Given the description of an element on the screen output the (x, y) to click on. 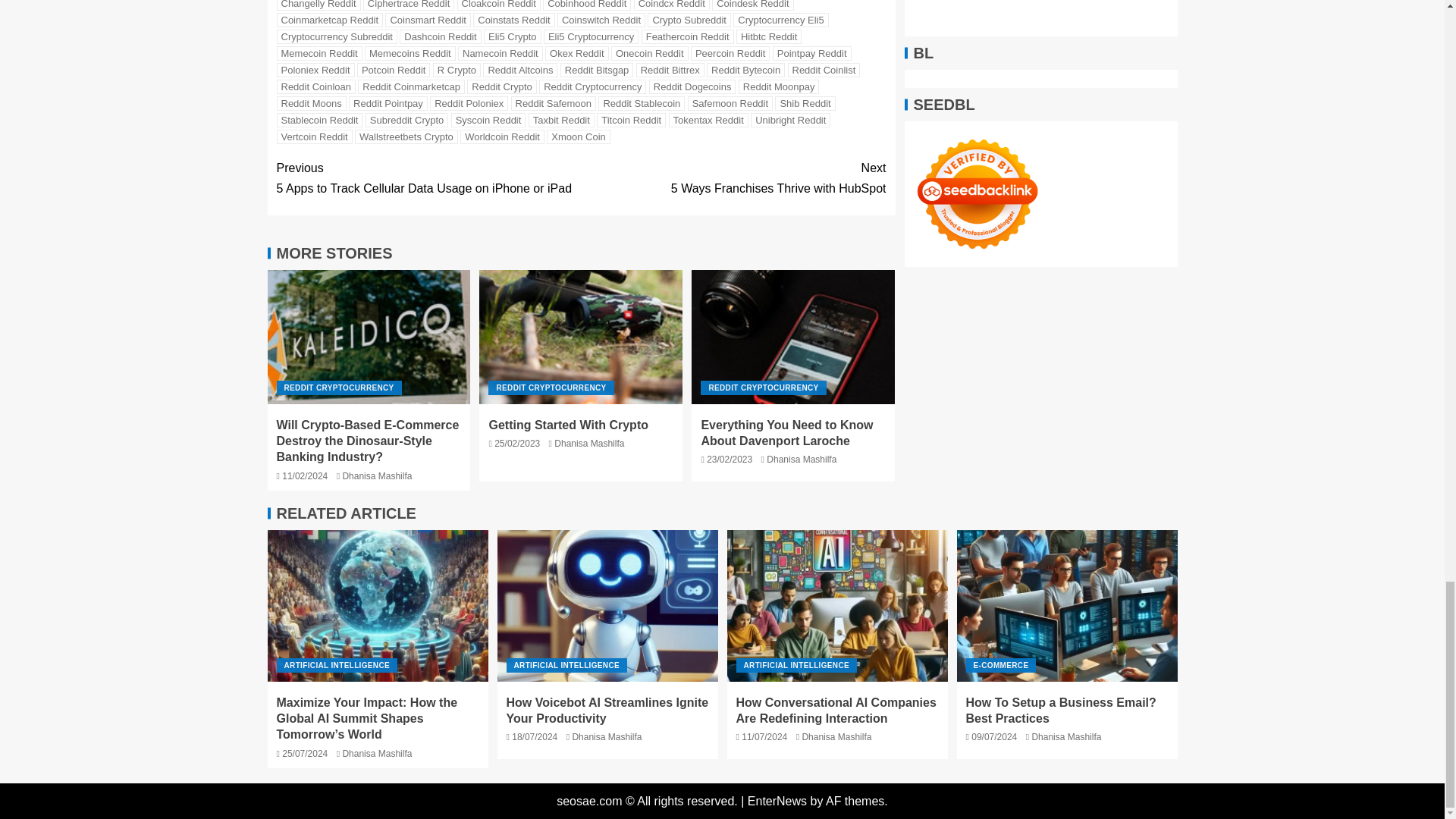
Changelly Reddit (317, 5)
How Conversational AI Companies Are Redefining Interaction (836, 605)
How Voicebot AI Streamlines Ignite Your Productivity (607, 605)
Getting Started With Crypto (580, 337)
How To Setup a Business Email? Best Practices (1066, 605)
Ciphertrace Reddit (408, 5)
Everything You Need to Know About Davenport Laroche (793, 337)
